Given the description of an element on the screen output the (x, y) to click on. 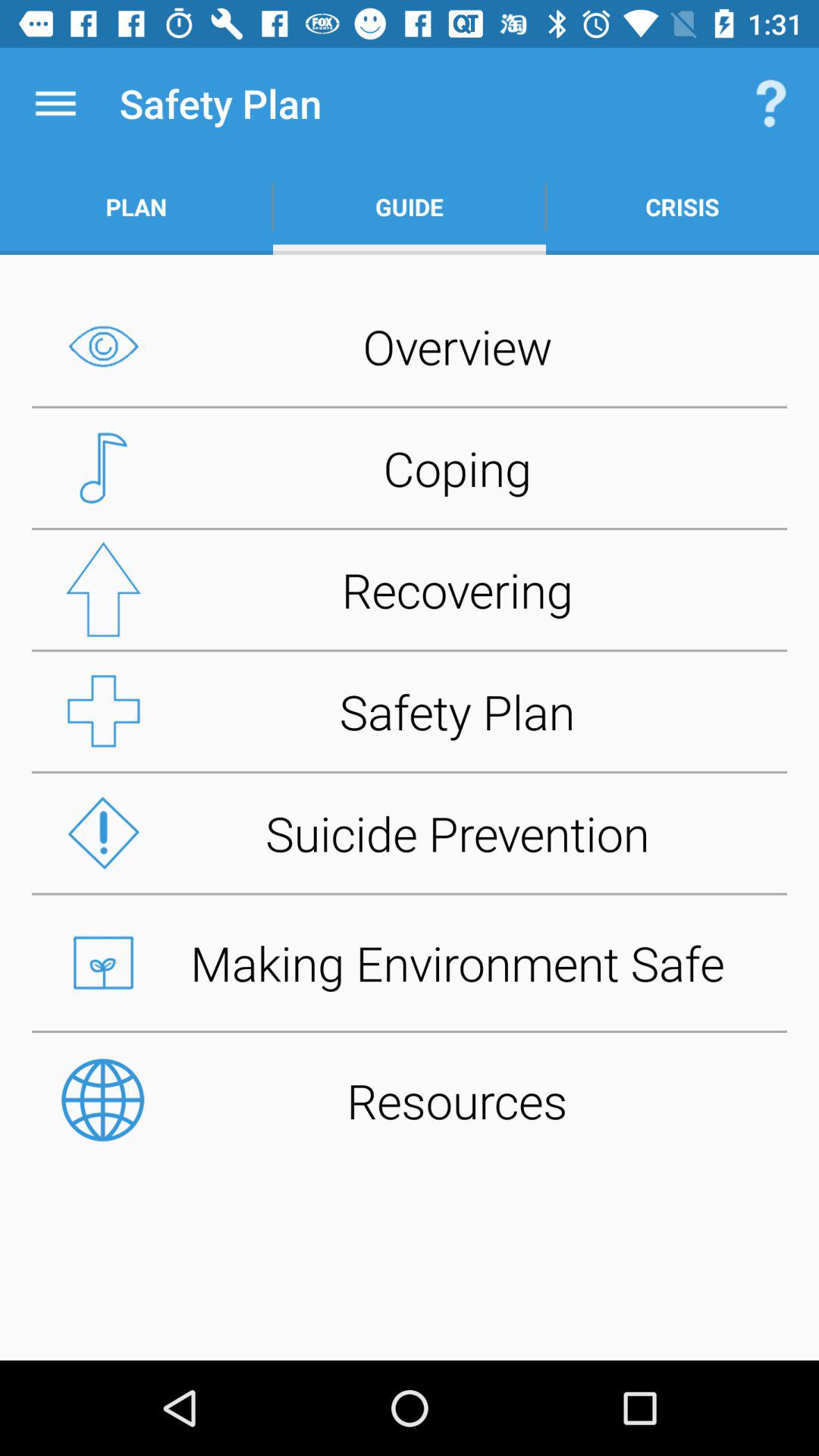
turn off the icon above overview icon (682, 206)
